Given the description of an element on the screen output the (x, y) to click on. 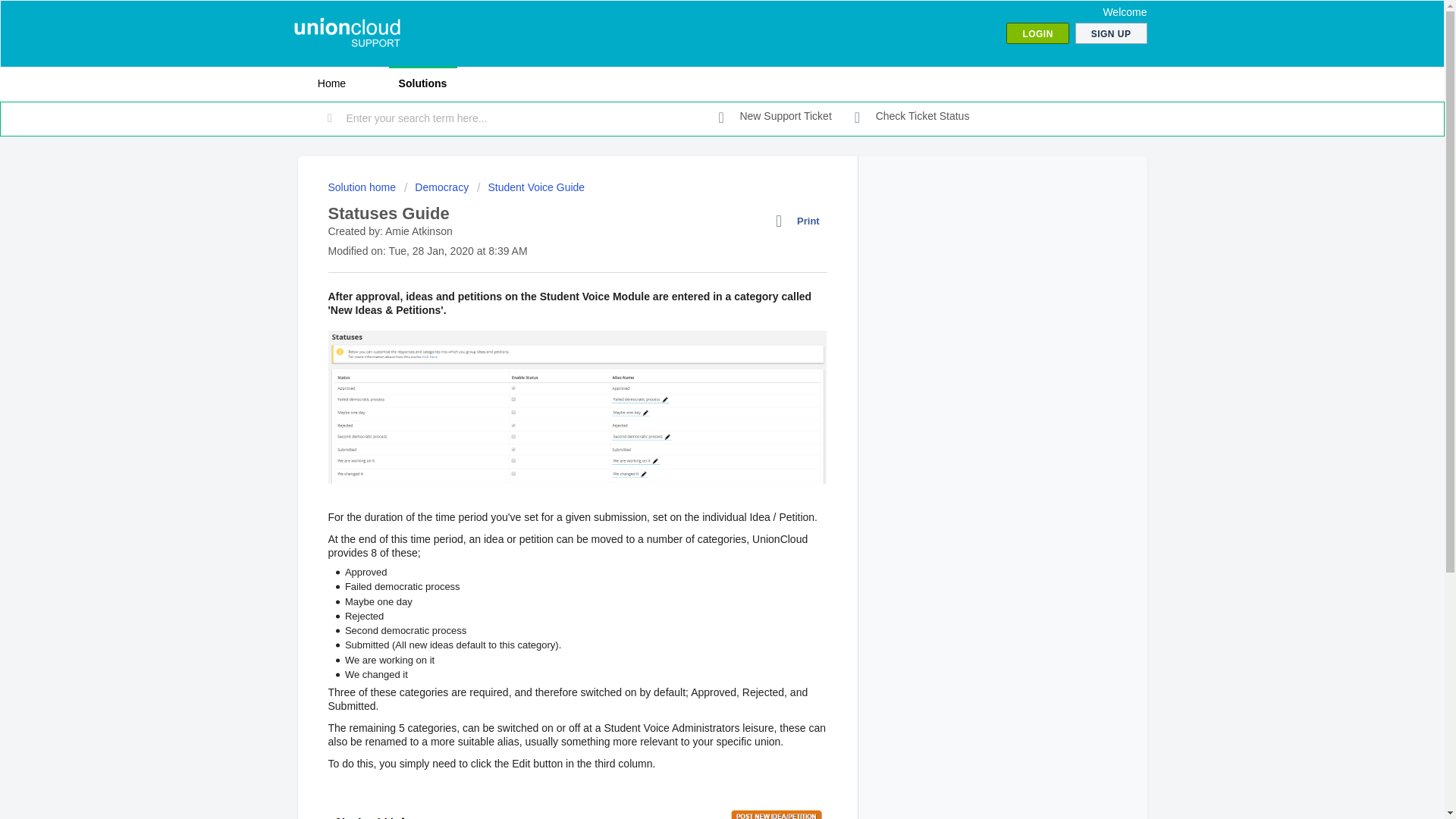
Check ticket status (911, 116)
New support ticket (775, 116)
Home (331, 83)
Print (801, 220)
SIGN UP (1111, 33)
Solution home (362, 186)
LOGIN (1037, 33)
Print this Article (801, 220)
Democracy (436, 186)
New Support Ticket (775, 116)
Solutions (422, 83)
Check Ticket Status (911, 116)
Student Voice Guide (531, 186)
